Given the description of an element on the screen output the (x, y) to click on. 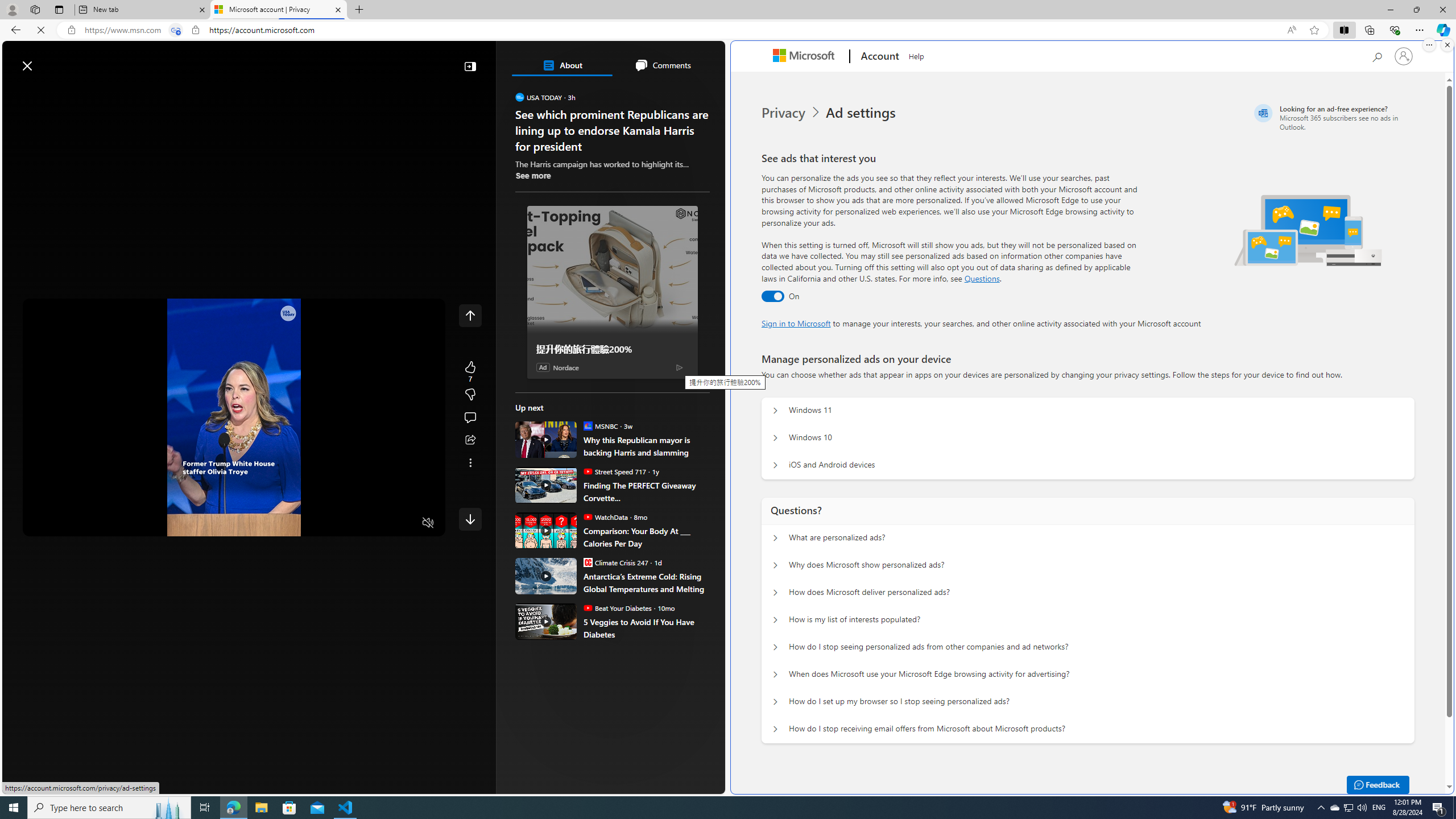
Collapse (469, 65)
MSNBC (587, 425)
Personalize (679, 92)
Questions? What are personalized ads? (775, 537)
Love dogs? We do, too. (616, 163)
Quality Settings (360, 523)
Finding The PERFECT Giveaway Corvette... (646, 491)
Sign in to your account (1404, 55)
Seek Forward (85, 523)
